Given the description of an element on the screen output the (x, y) to click on. 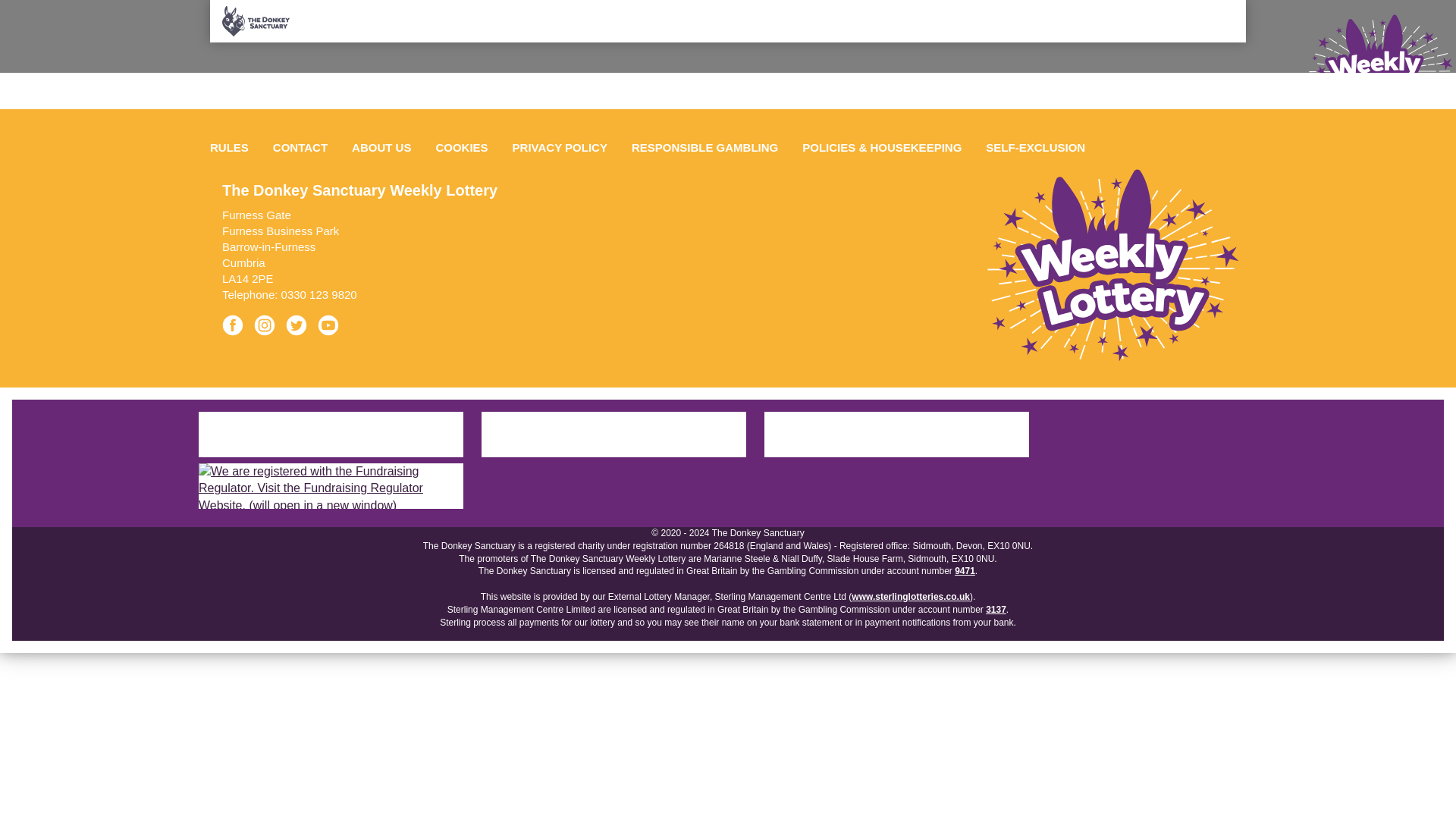
Follow us on Facebook (236, 329)
Follow us on Twitter (300, 329)
CONTACT (299, 147)
Follow us on YouTube (332, 329)
RESPONSIBLE GAMBLING (705, 147)
ABOUT US (381, 147)
PRIVACY POLICY (560, 147)
RULES (234, 147)
SELF-EXCLUSION (1035, 147)
COOKIES (461, 147)
Follow us on Instagram (268, 329)
